Given the description of an element on the screen output the (x, y) to click on. 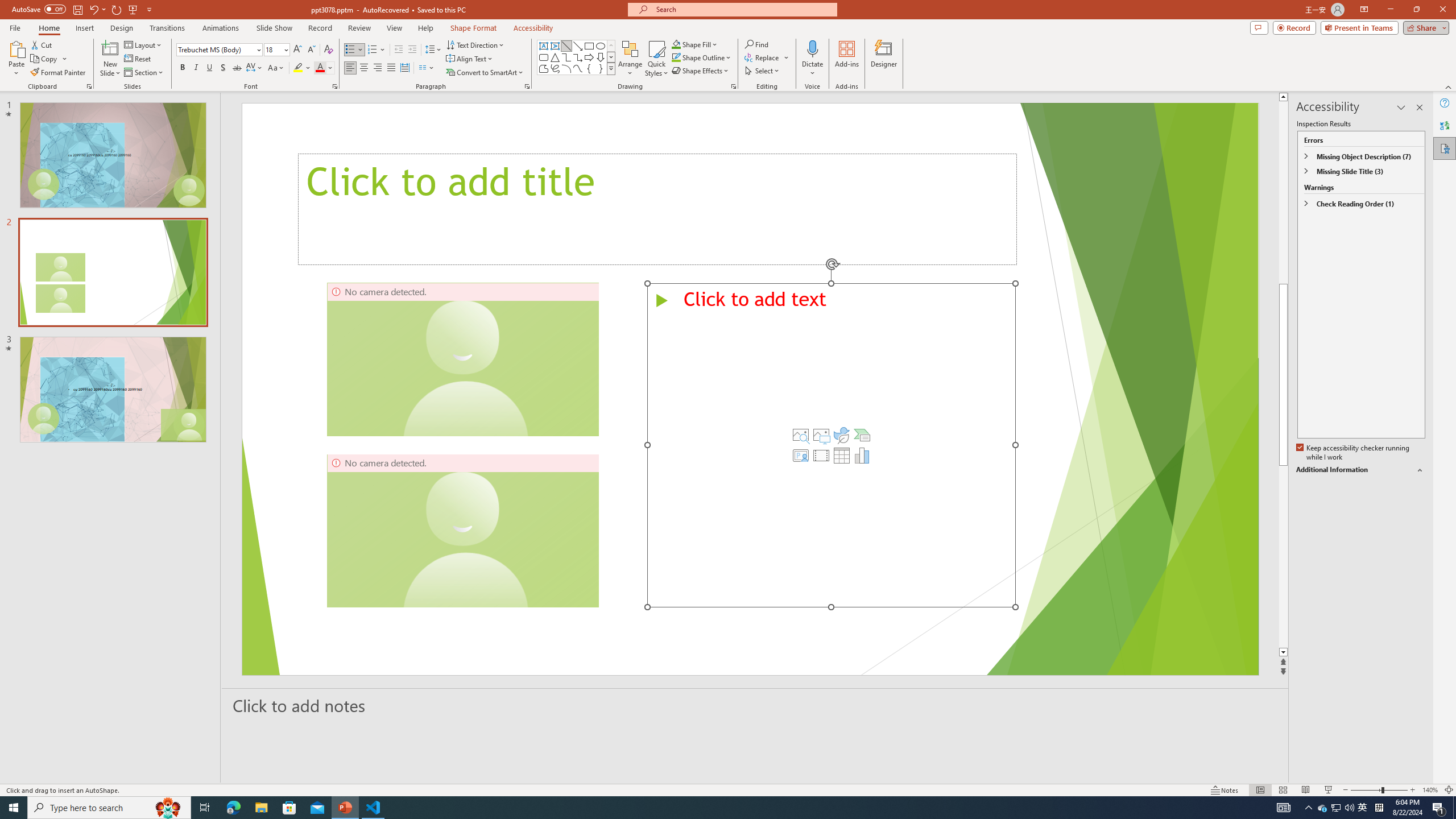
Insert an Icon (841, 434)
